Given the description of an element on the screen output the (x, y) to click on. 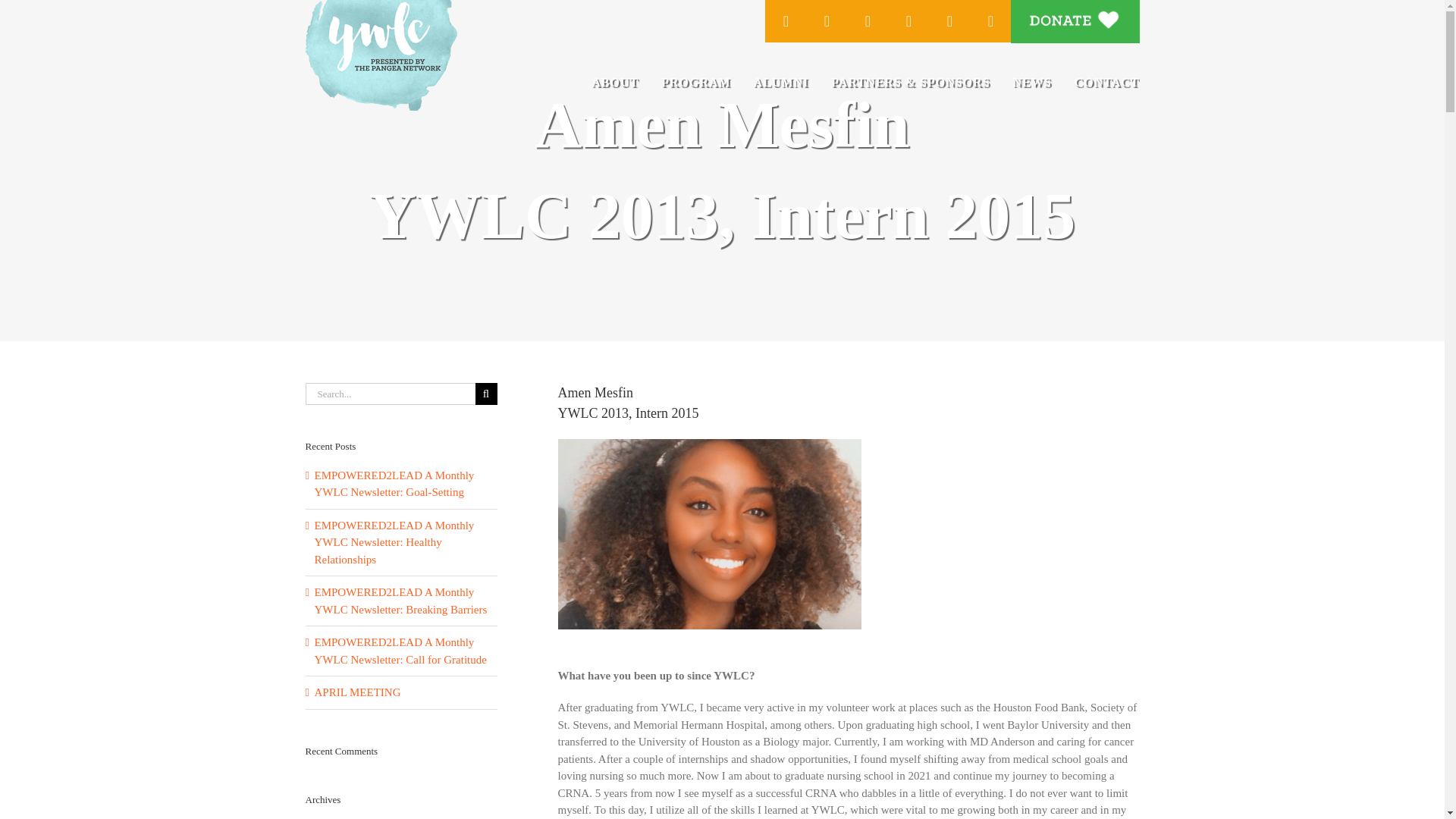
Vimeo (867, 21)
Email (989, 21)
X (826, 21)
LinkedIn (948, 21)
Vimeo (867, 21)
Facebook (785, 21)
X (826, 21)
Email (989, 21)
Facebook (785, 21)
DONATE (1074, 21)
